Given the description of an element on the screen output the (x, y) to click on. 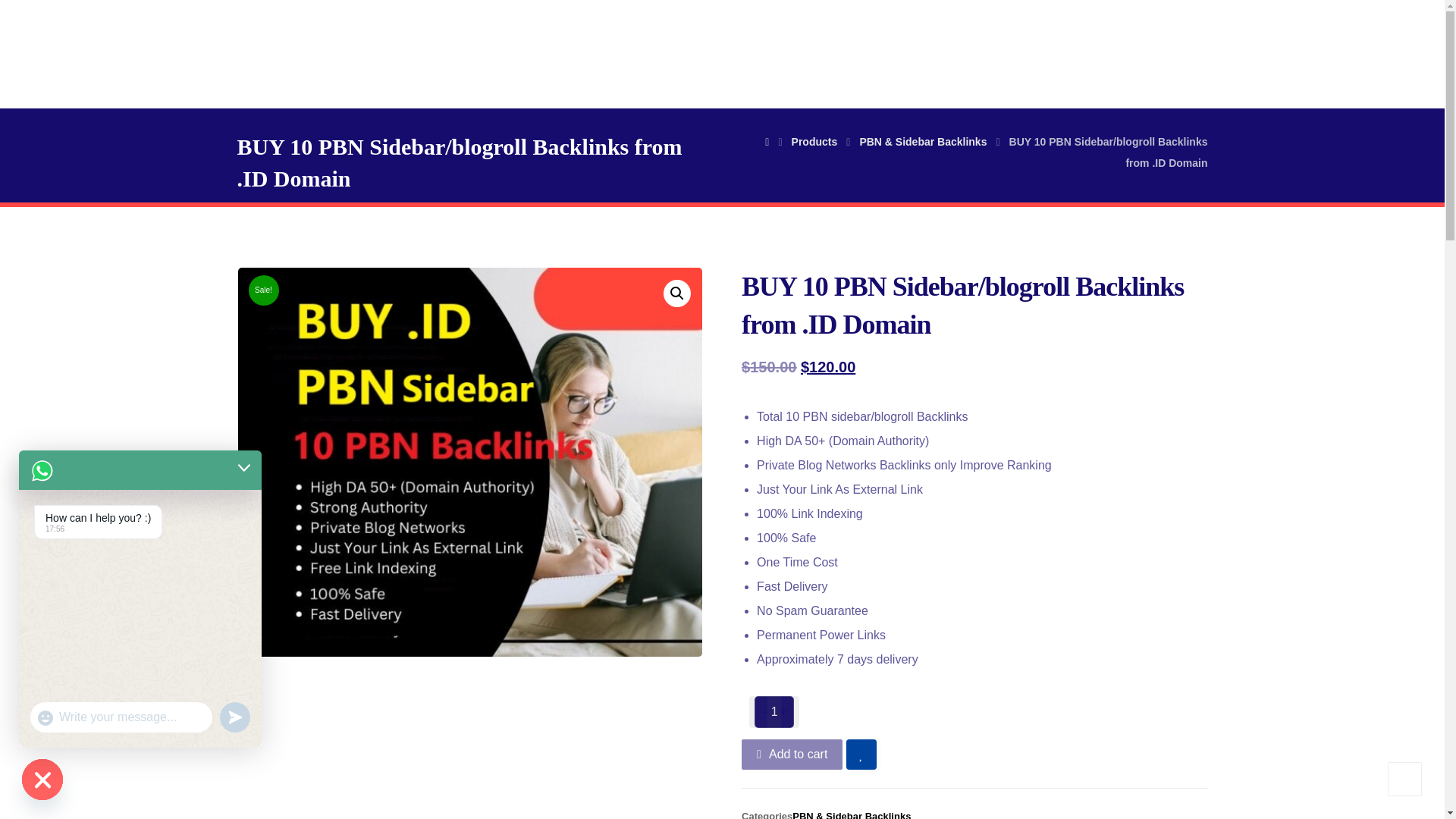
1 (773, 712)
